Given the description of an element on the screen output the (x, y) to click on. 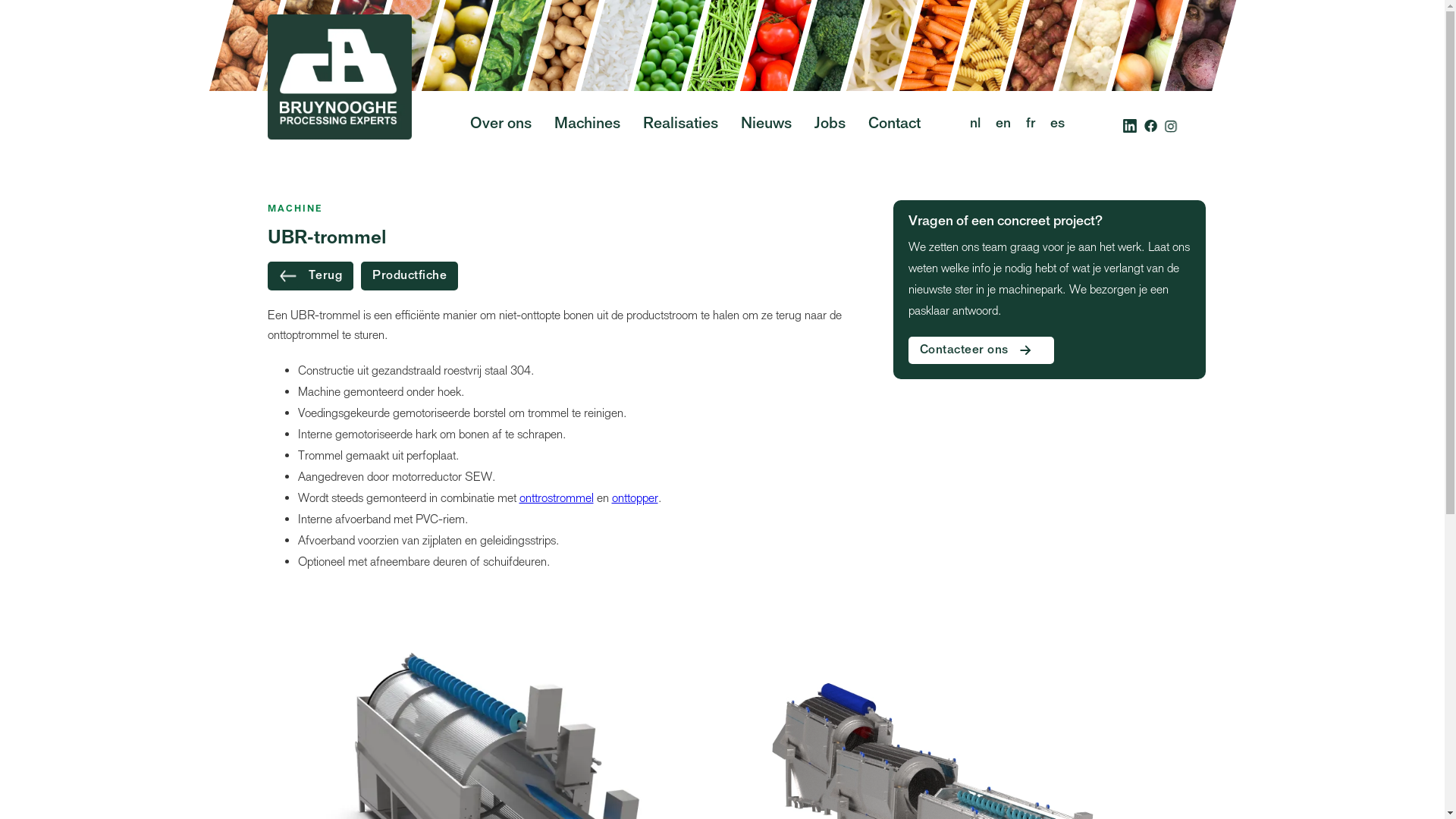
Contacteer ons Element type: text (981, 350)
Over ons Element type: text (500, 124)
en Element type: text (1002, 124)
Realisaties Element type: text (679, 123)
onttrostrommel Element type: text (555, 497)
nl Element type: text (974, 124)
Terug Element type: text (309, 275)
Productfiche Element type: text (409, 275)
fr Element type: text (1029, 124)
es Element type: text (1056, 124)
Contact Element type: text (893, 124)
Jobs Element type: text (829, 124)
Nieuws Element type: text (766, 124)
Machines Element type: text (586, 124)
onttopper Element type: text (634, 497)
